Given the description of an element on the screen output the (x, y) to click on. 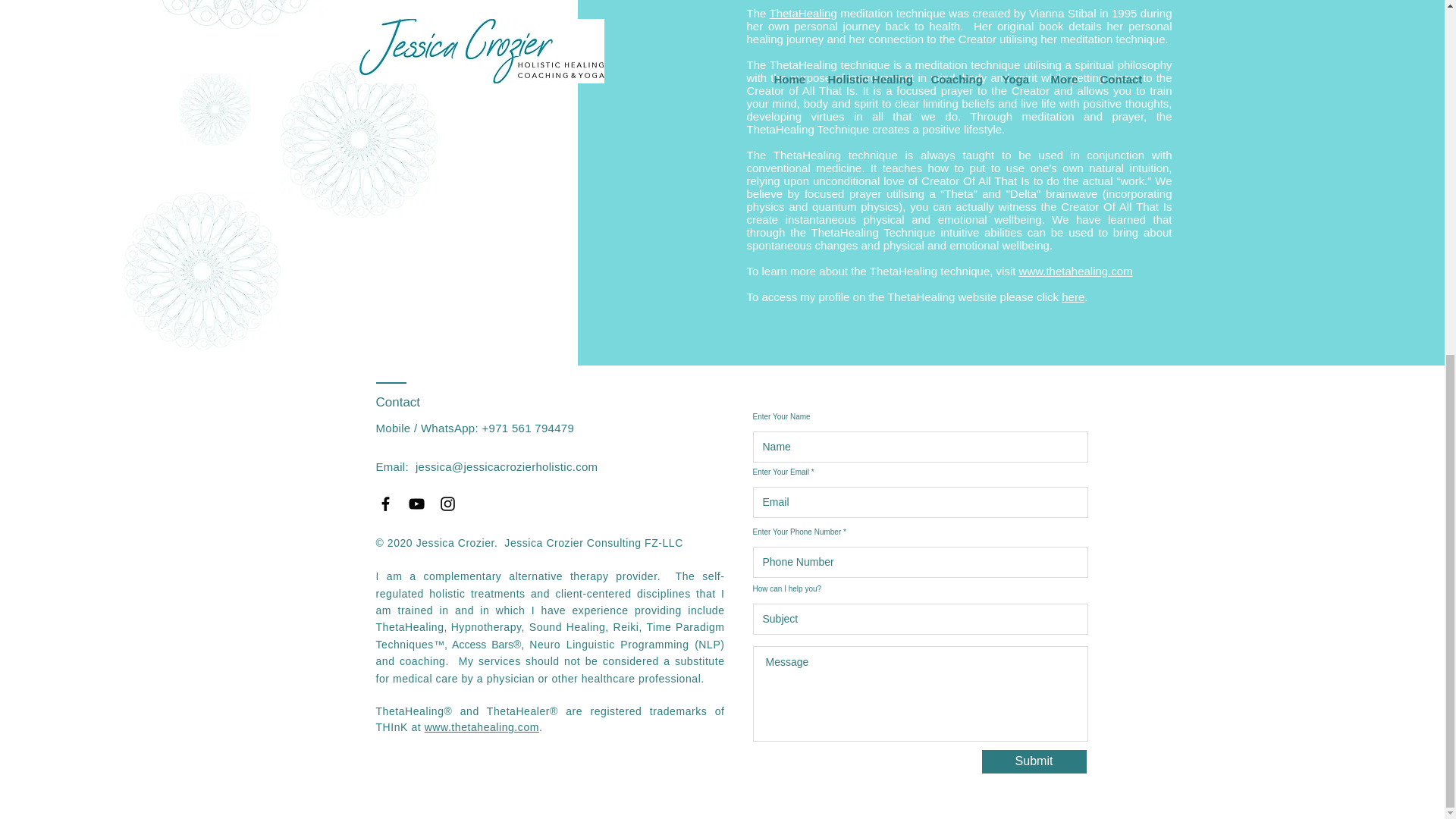
www.thetahealing.com (481, 727)
www.thetahealing.com (1075, 270)
Submit (1033, 761)
here (1072, 296)
ThetaHealing (803, 12)
